Given the description of an element on the screen output the (x, y) to click on. 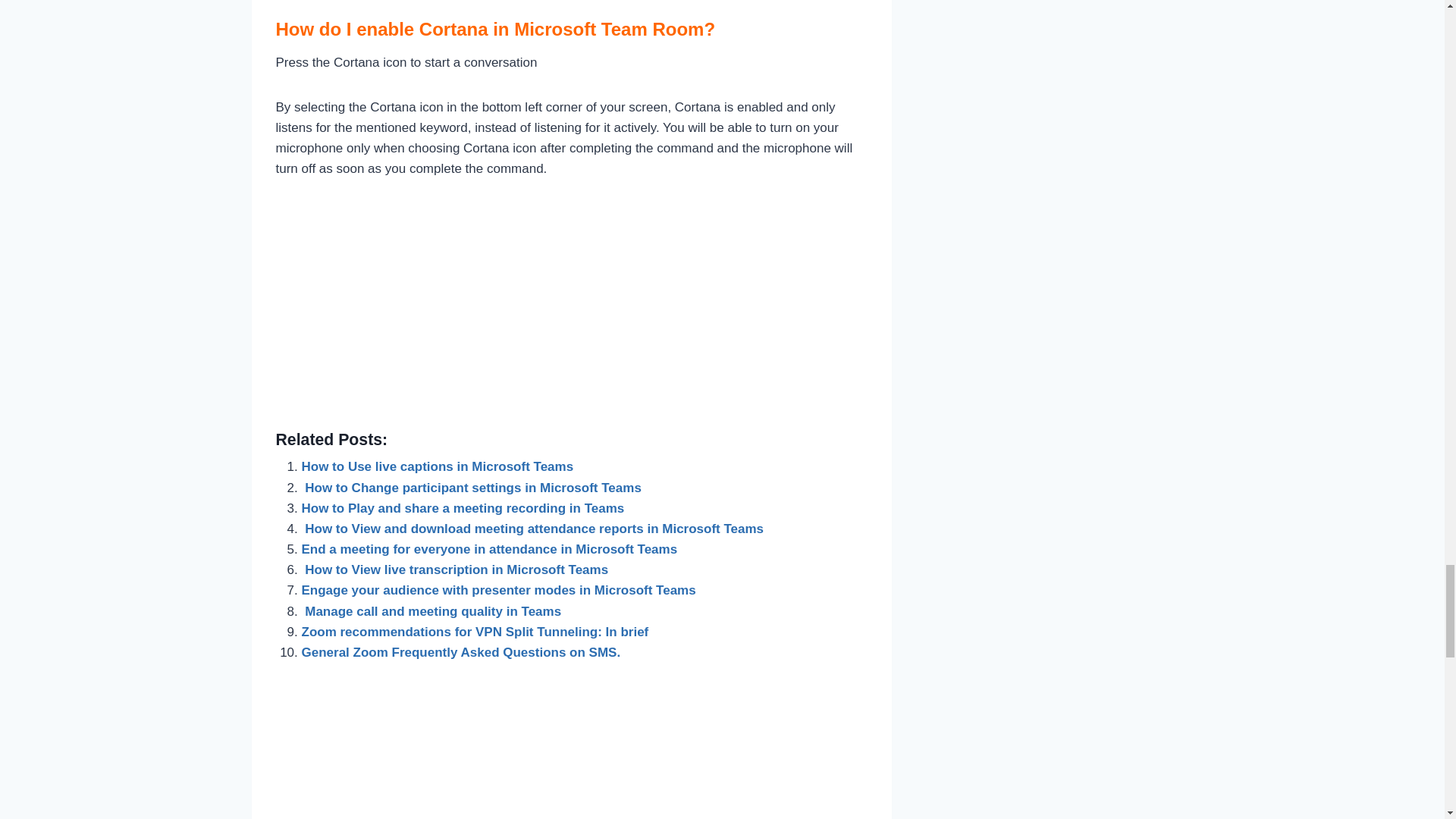
How to Play and share a meeting recording in Teams (462, 508)
Engage your audience with presenter modes in Microsoft Teams (498, 590)
End a meeting for everyone in attendance in Microsoft Teams (489, 549)
 Manage call and meeting quality in Teams (431, 611)
General Zoom Frequently Asked Questions on SMS.  (462, 652)
Zoom recommendations for VPN Split Tunneling: In brief (475, 631)
 How to View live transcription in Microsoft Teams (454, 569)
How to Use live captions in Microsoft Teams (437, 466)
How to Use live captions in Microsoft Teams (437, 466)
End a meeting for everyone in attendance in Microsoft Teams (489, 549)
 How to Change participant settings in Microsoft Teams (471, 487)
How to Play and share a meeting recording in Teams (462, 508)
